Given the description of an element on the screen output the (x, y) to click on. 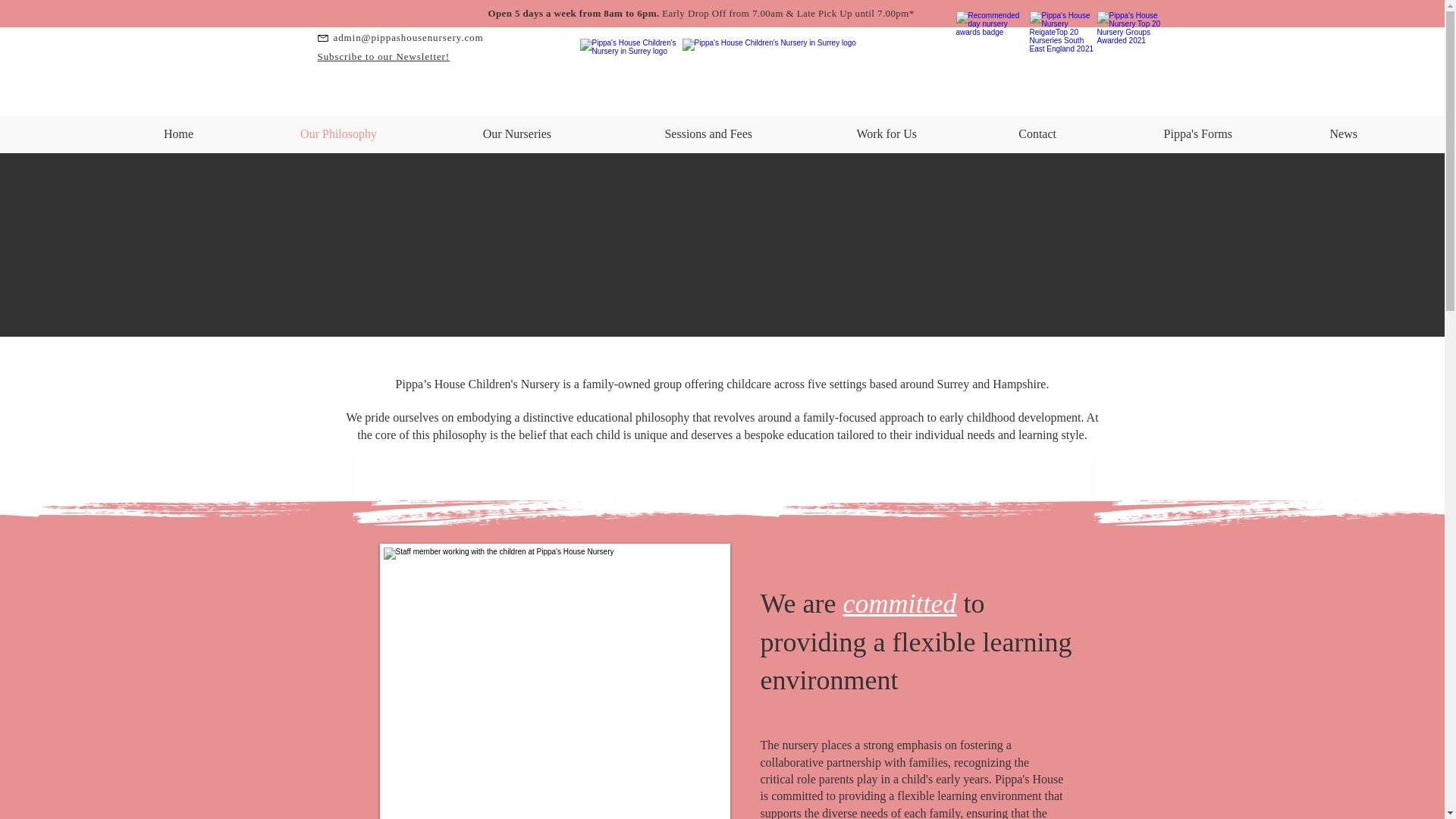
Our Philosophy (296, 134)
Pippa's House Children's Nursery in Surrey logo (772, 71)
Pippa's House Nursery Top 20 Nursery Groups Awarded 2021 (1129, 44)
News (1305, 134)
Contact (997, 134)
Subscribe to our Newsletter! (383, 56)
Recommended day nursery awards badge  (988, 44)
Home (140, 134)
Sessions and Fees (662, 134)
